Given the description of an element on the screen output the (x, y) to click on. 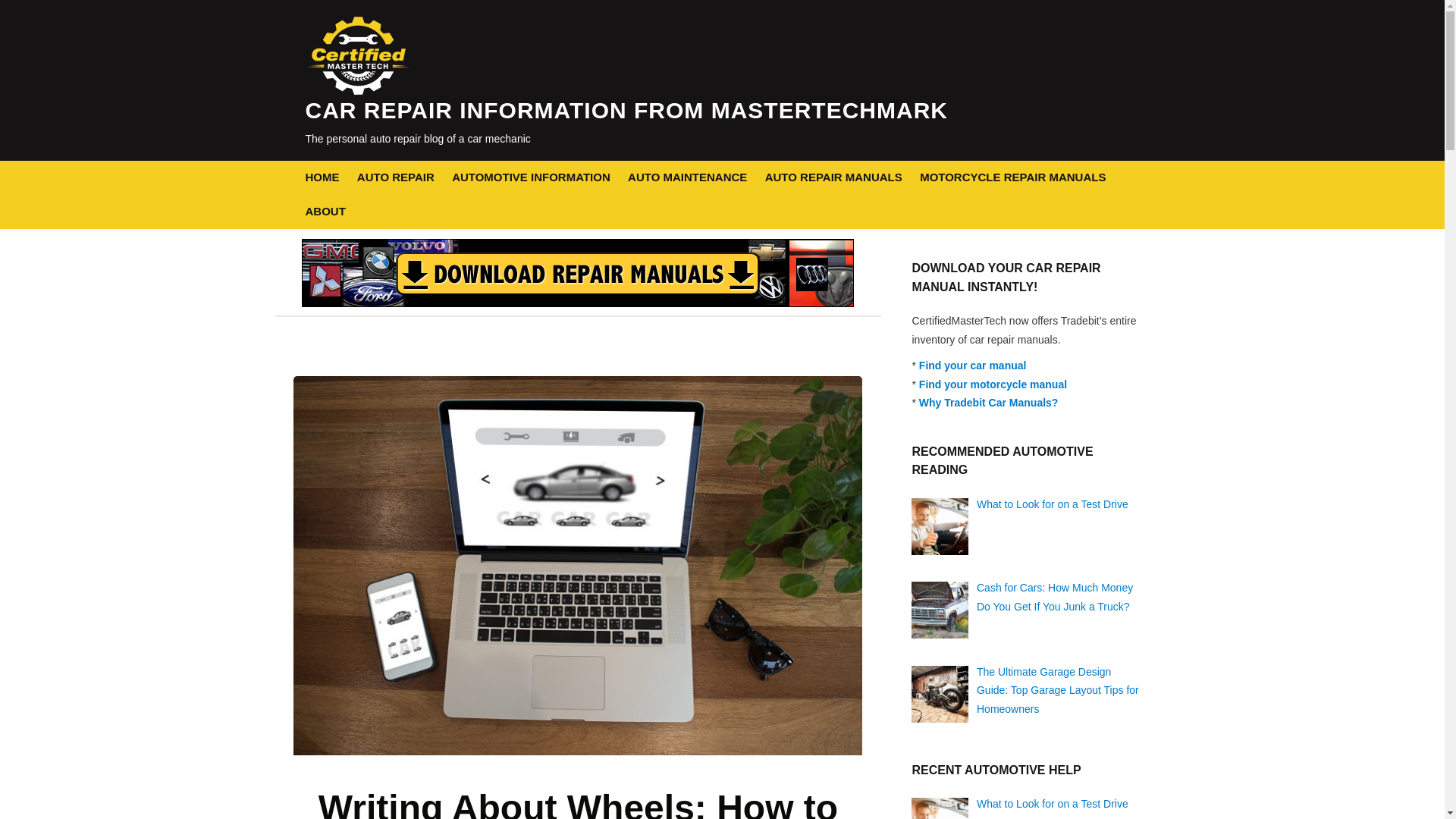
CAR REPAIR INFORMATION FROM MASTERTECHMARK (625, 109)
AUTO MAINTENANCE (686, 177)
MOTORCYCLE REPAIR MANUALS (1012, 177)
AUTOMOTIVE INFORMATION (530, 177)
AUTO REPAIR (394, 177)
HOME (321, 177)
ABOUT (324, 211)
AUTO REPAIR MANUALS (833, 177)
